Given the description of an element on the screen output the (x, y) to click on. 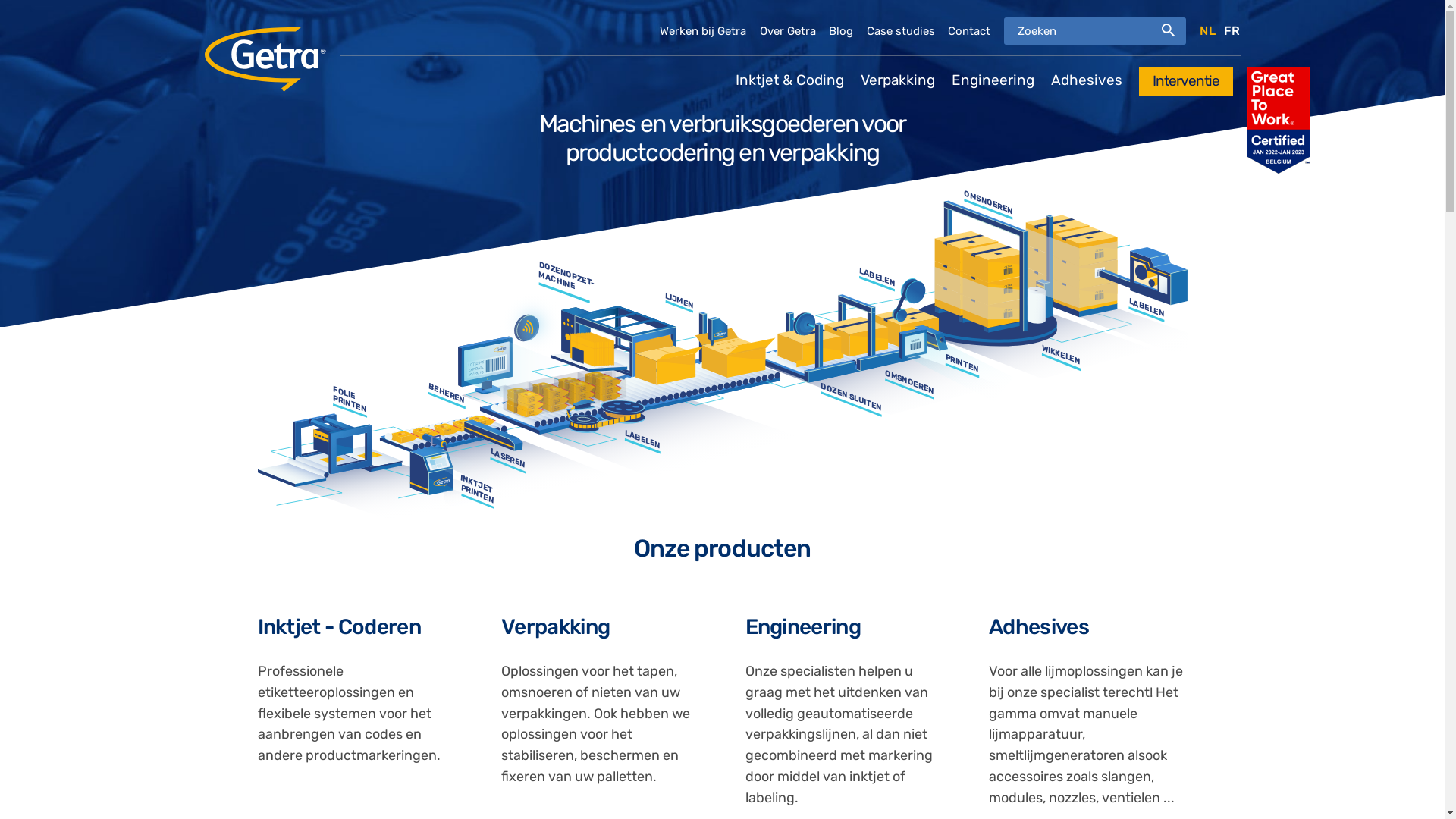
Engineering Element type: text (801, 626)
Home Element type: hover (265, 36)
Contact Element type: text (968, 30)
Inktjet - Coderen Element type: text (338, 626)
Skip to main content Element type: text (64, 0)
Case studies Element type: text (900, 30)
Werken bij Getra Element type: text (702, 30)
Inktjet & Coding Element type: text (789, 79)
Adhesives Element type: text (1038, 626)
Geef de woorden op waarnaar u wilt zoeken. Element type: hover (1095, 29)
Over Getra Element type: text (787, 30)
FR Element type: text (1231, 30)
Verpakking Element type: text (555, 626)
NL Element type: text (1207, 30)
Engineering Element type: text (992, 79)
Verpakking Element type: text (897, 79)
Blog Element type: text (840, 30)
Interventie Element type: text (1185, 80)
Adhesives Element type: text (1086, 79)
Zoeken Element type: text (1168, 30)
